Given the description of an element on the screen output the (x, y) to click on. 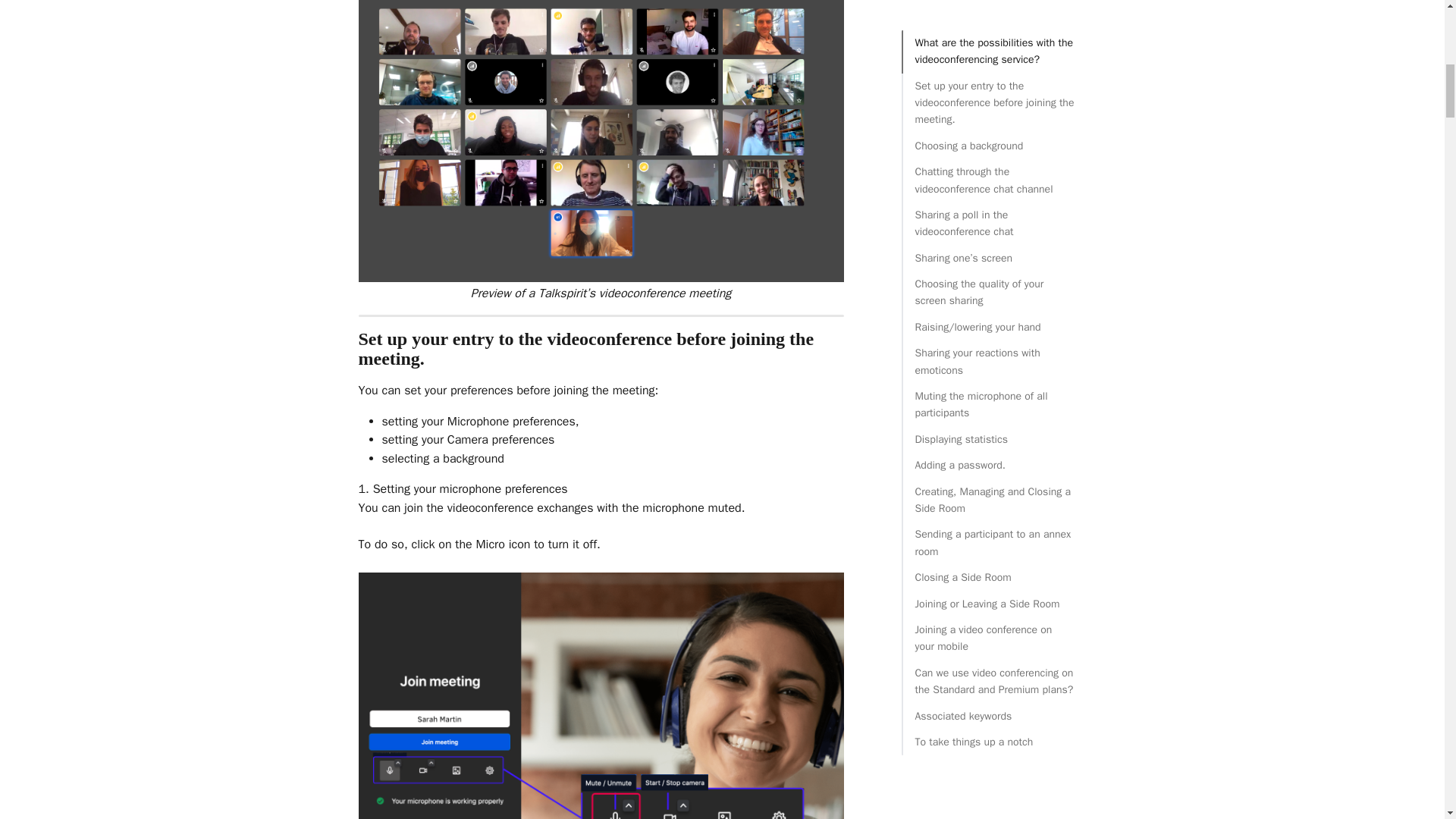
Associated keywords (994, 107)
Joining a video conference on your mobile (994, 29)
Joining or Leaving a Side Room (994, 2)
To take things up a notch (994, 133)
